Given the description of an element on the screen output the (x, y) to click on. 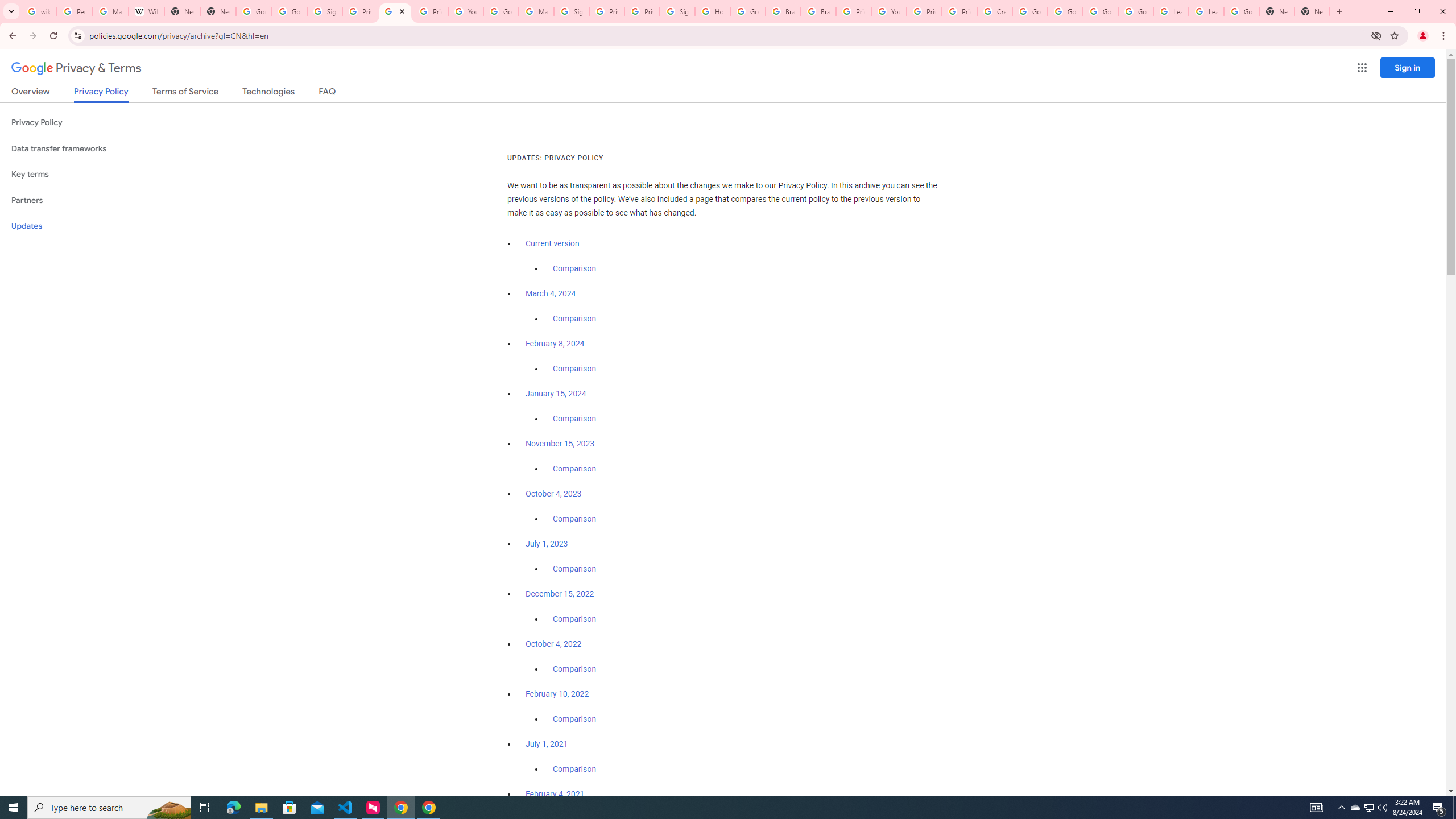
Google Account Help (501, 11)
February 4, 2021 (555, 793)
Google Account (1240, 11)
New Tab (1276, 11)
Current version (552, 243)
November 15, 2023 (560, 443)
Brand Resource Center (783, 11)
February 8, 2024 (555, 343)
